Given the description of an element on the screen output the (x, y) to click on. 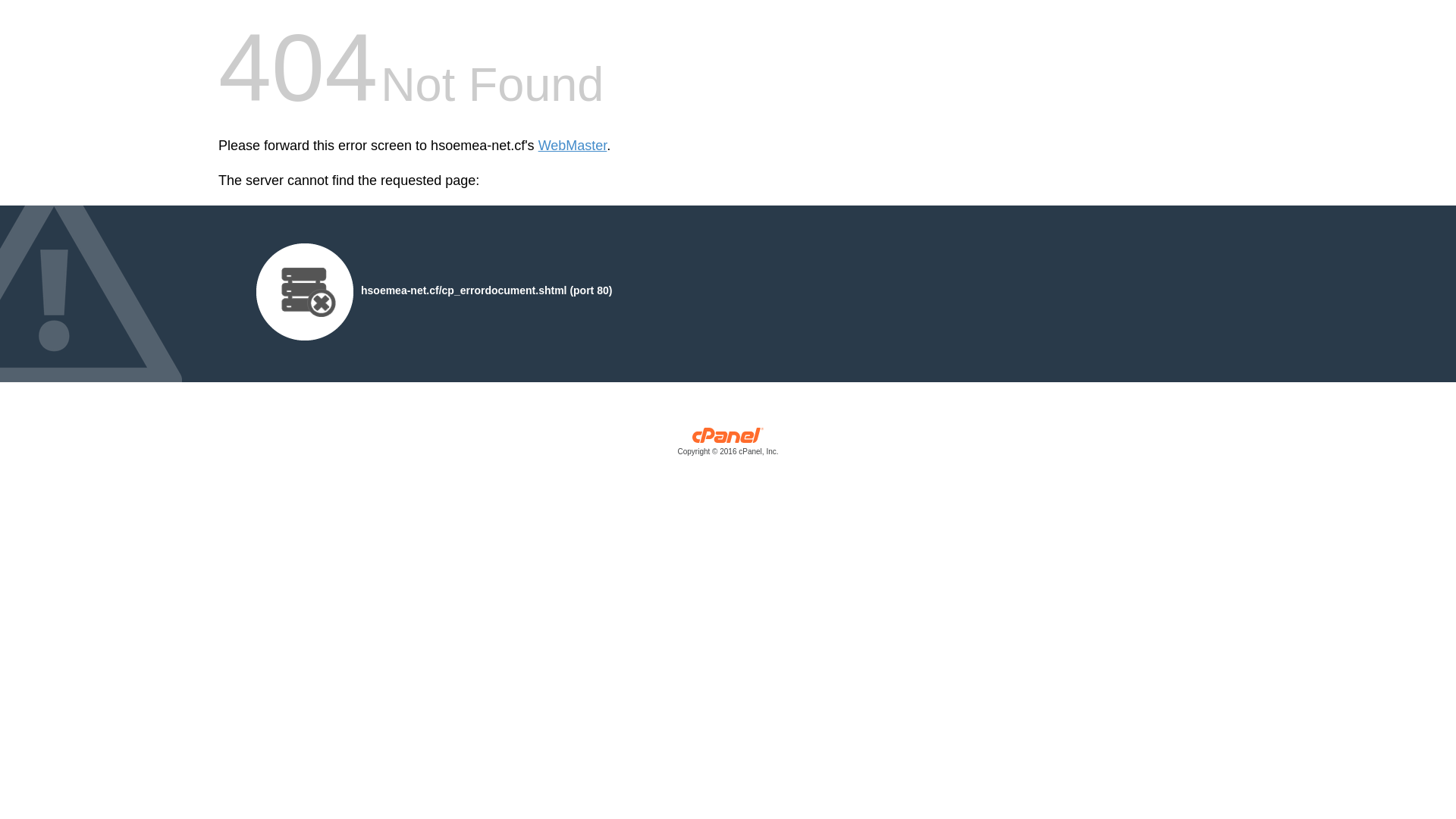
WebMaster Element type: text (572, 145)
